Given the description of an element on the screen output the (x, y) to click on. 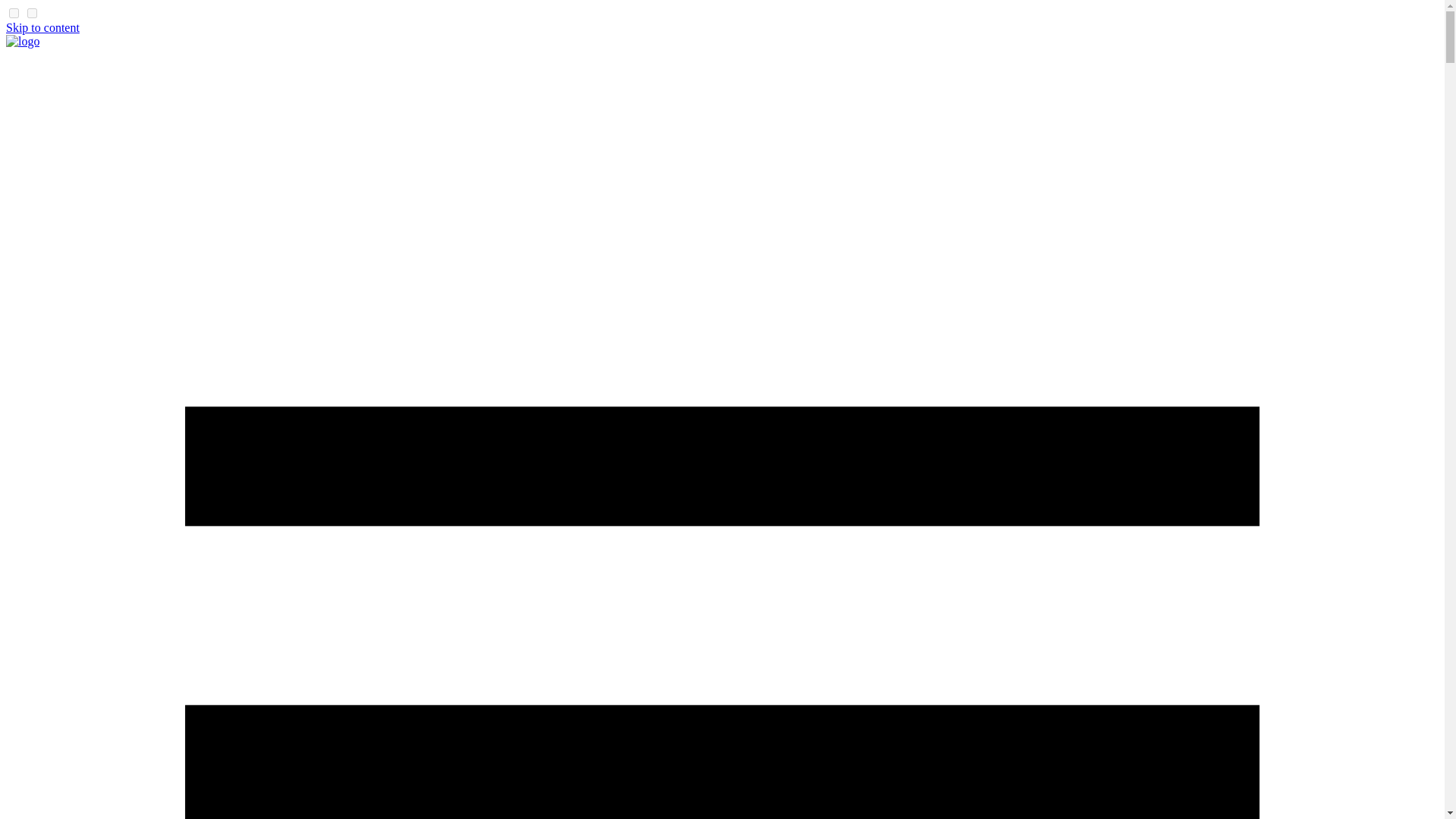
on (32, 13)
on (13, 13)
Documentation (22, 41)
Skip to content (42, 27)
